Given the description of an element on the screen output the (x, y) to click on. 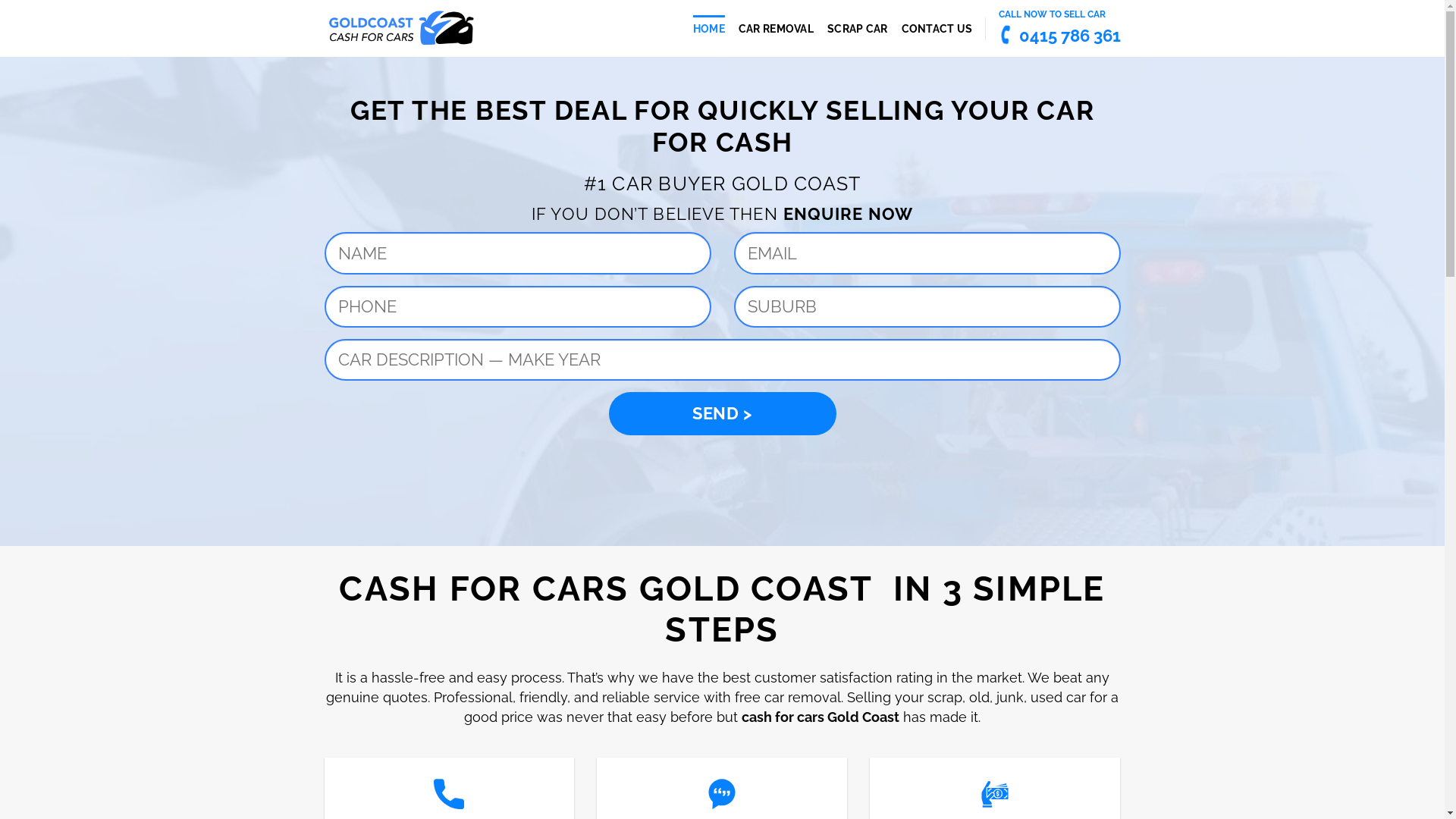
SCRAP CAR Element type: text (857, 28)
CALL NOW TO SELL CAR
0415 786 361 Element type: text (1058, 25)
Gold Coast Cash For Cars - FREE Car Removal Gold Coast Element type: hover (400, 28)
CONTACT US Element type: text (936, 28)
Skip to content Element type: text (0, 0)
cash for cars Gold Coast Element type: text (820, 716)
CAR REMOVAL Element type: text (775, 28)
Send > Element type: text (721, 413)
HOME Element type: text (708, 28)
